Given the description of an element on the screen output the (x, y) to click on. 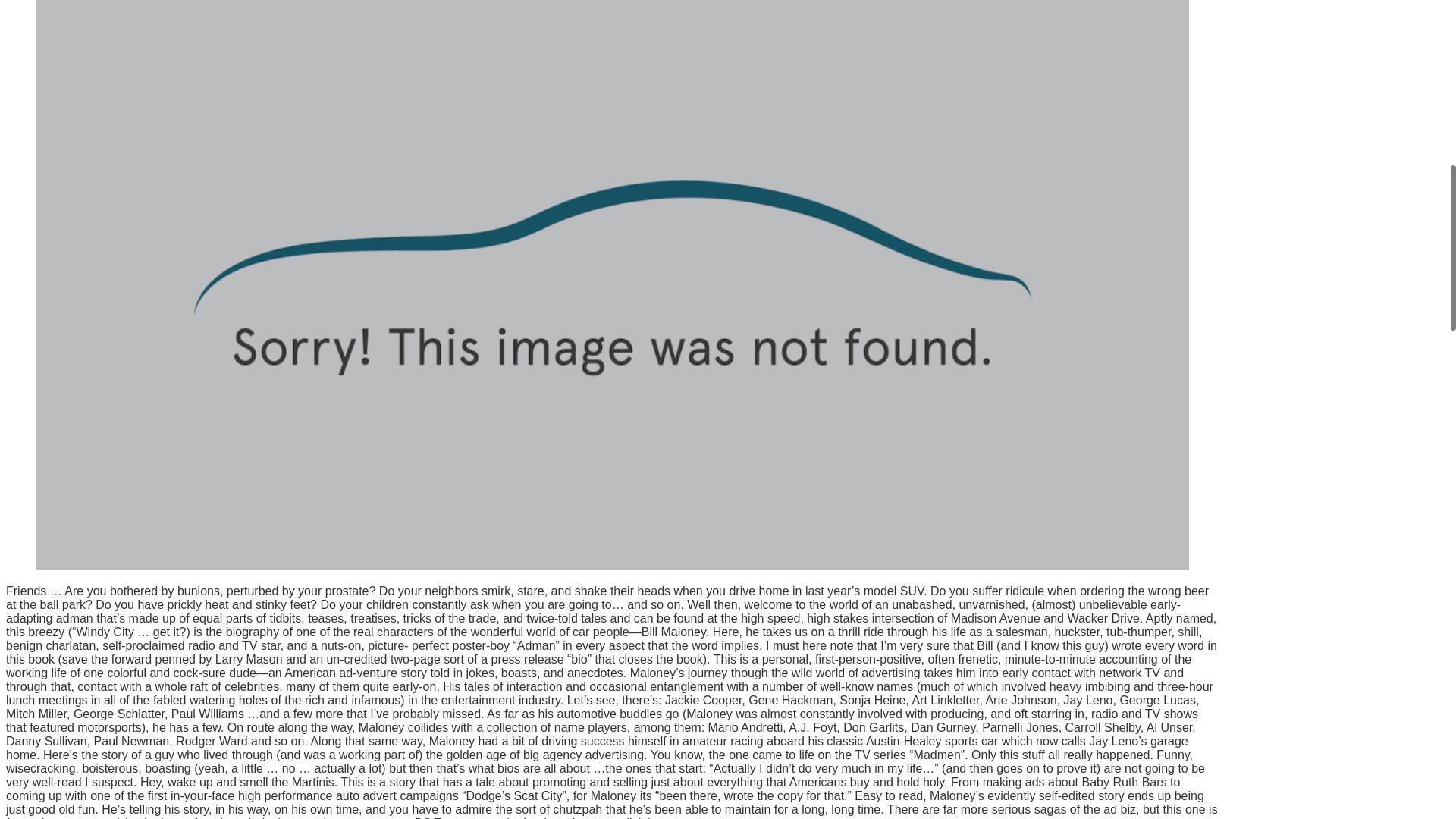
here (659, 817)
